Given the description of an element on the screen output the (x, y) to click on. 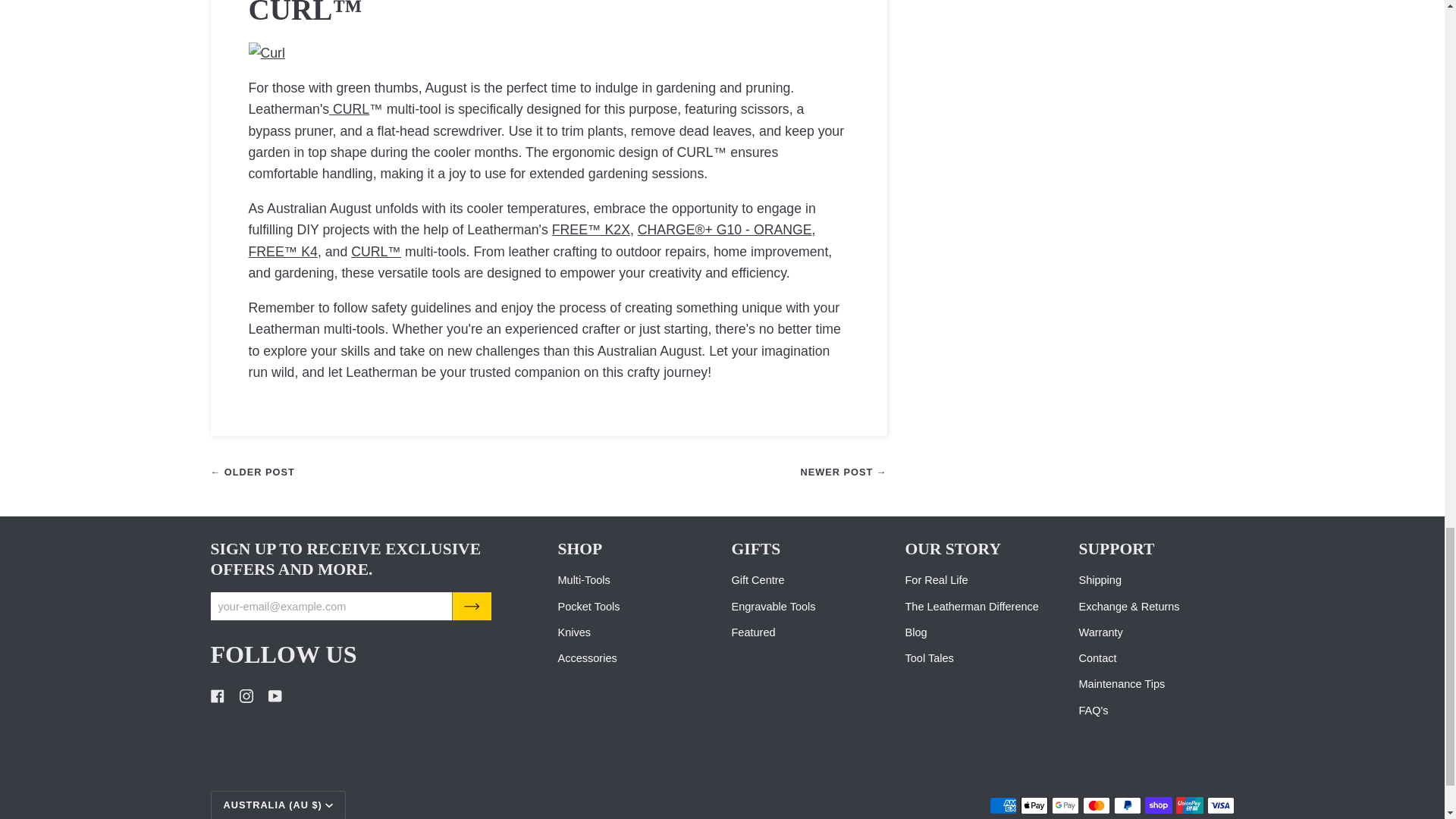
Curl (375, 251)
UNION PAY (1188, 805)
GOOGLE PAY (1064, 805)
Curl (349, 109)
MASTERCARD (1096, 805)
FREE K2X (590, 229)
SHOP PAY (1158, 805)
FREE K4 (282, 251)
AMERICAN EXPRESS (1002, 805)
PAYPAL (1126, 805)
VISA (1220, 805)
APPLE PAY (1034, 805)
CURL (266, 52)
